Given the description of an element on the screen output the (x, y) to click on. 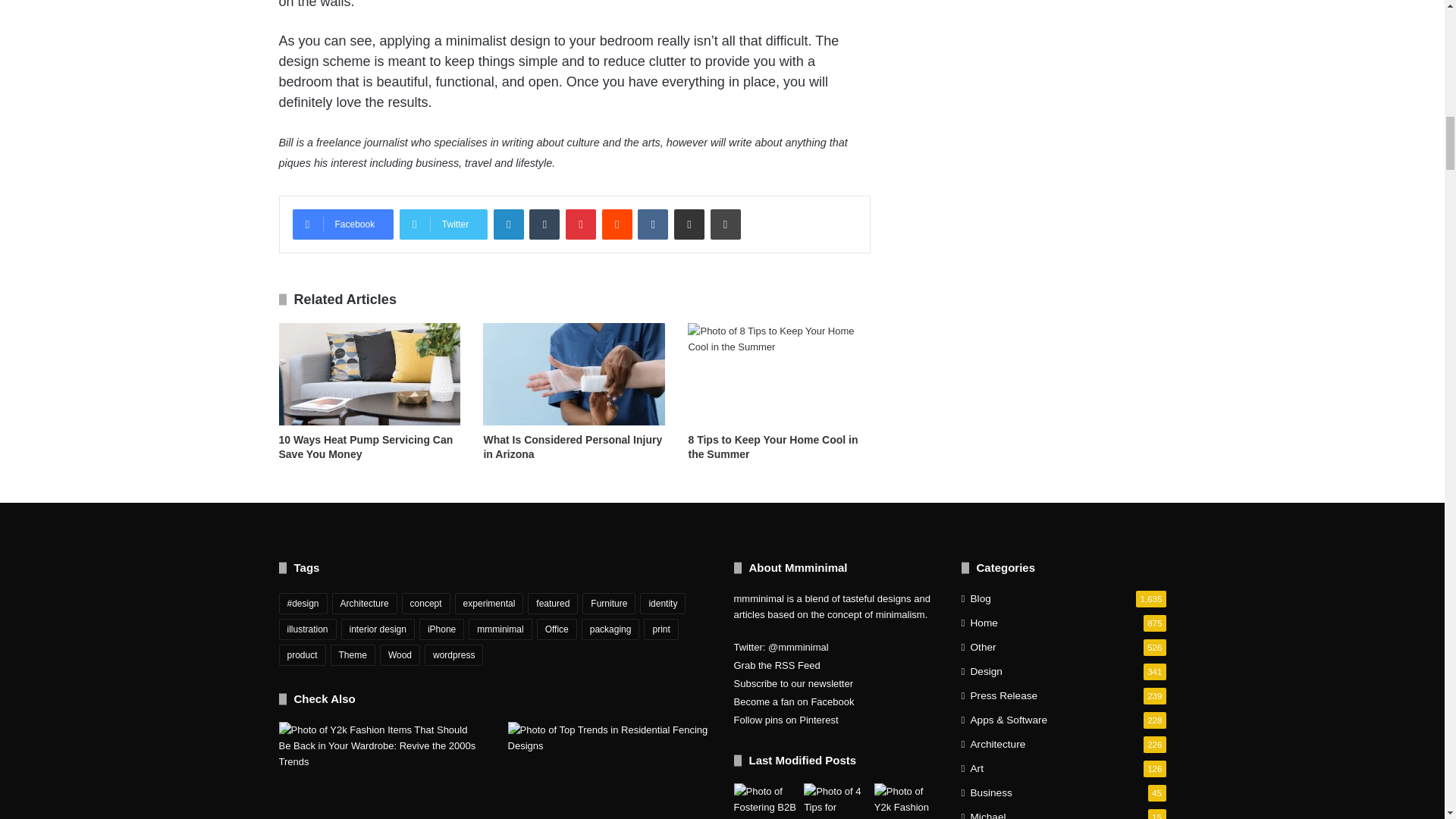
LinkedIn (508, 224)
Print (725, 224)
Reddit (616, 224)
LinkedIn (508, 224)
Print (725, 224)
Share via Email (689, 224)
Facebook (343, 224)
Reddit (616, 224)
Twitter (442, 224)
Pinterest (580, 224)
10 Ways Heat Pump Servicing Can Save You Money (365, 447)
VKontakte (652, 224)
Tumblr (544, 224)
VKontakte (652, 224)
8 Tips to Keep Your Home Cool in the Summer (772, 447)
